Given the description of an element on the screen output the (x, y) to click on. 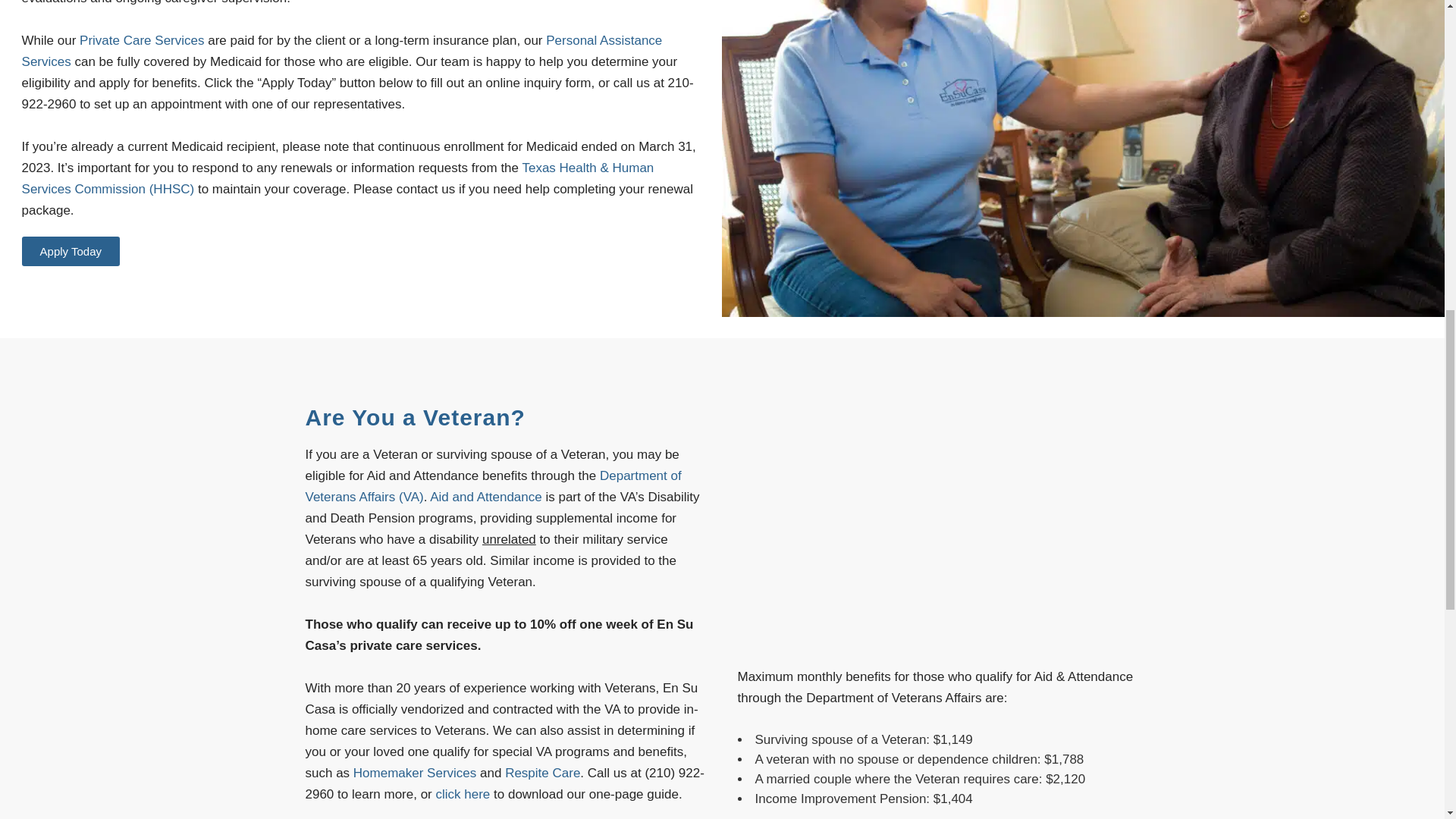
Aid and Attendance (485, 496)
Private Care Services (141, 40)
Homemaker Services (415, 772)
Apply Today (70, 251)
Respite Care (542, 772)
click here (462, 794)
Personal Assistance Services (341, 50)
